Given the description of an element on the screen output the (x, y) to click on. 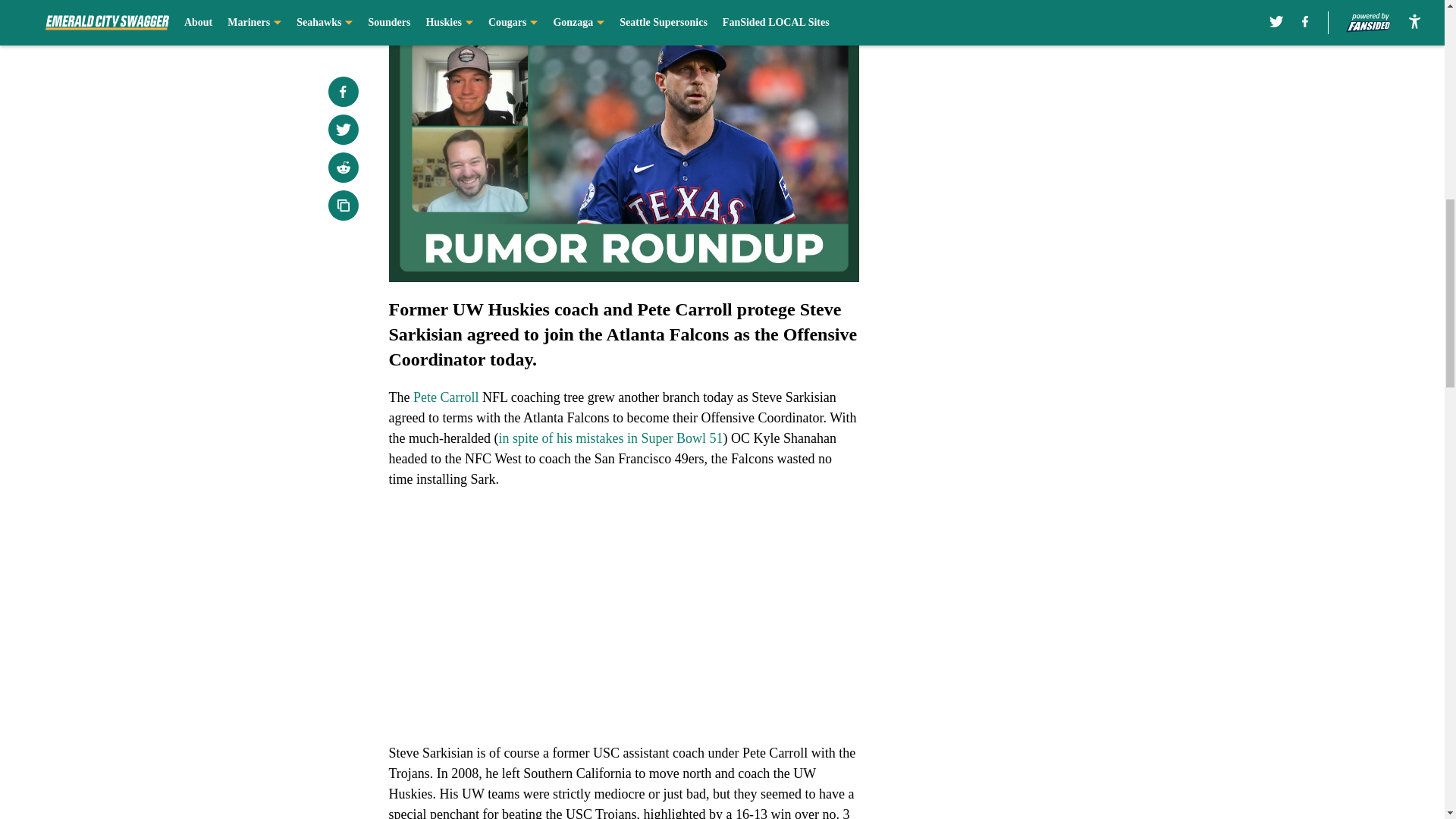
in spite of his mistakes in Super Bowl 51 (609, 437)
3rd party ad content (1047, 332)
3rd party ad content (1047, 113)
Pete Carroll (446, 396)
